Given the description of an element on the screen output the (x, y) to click on. 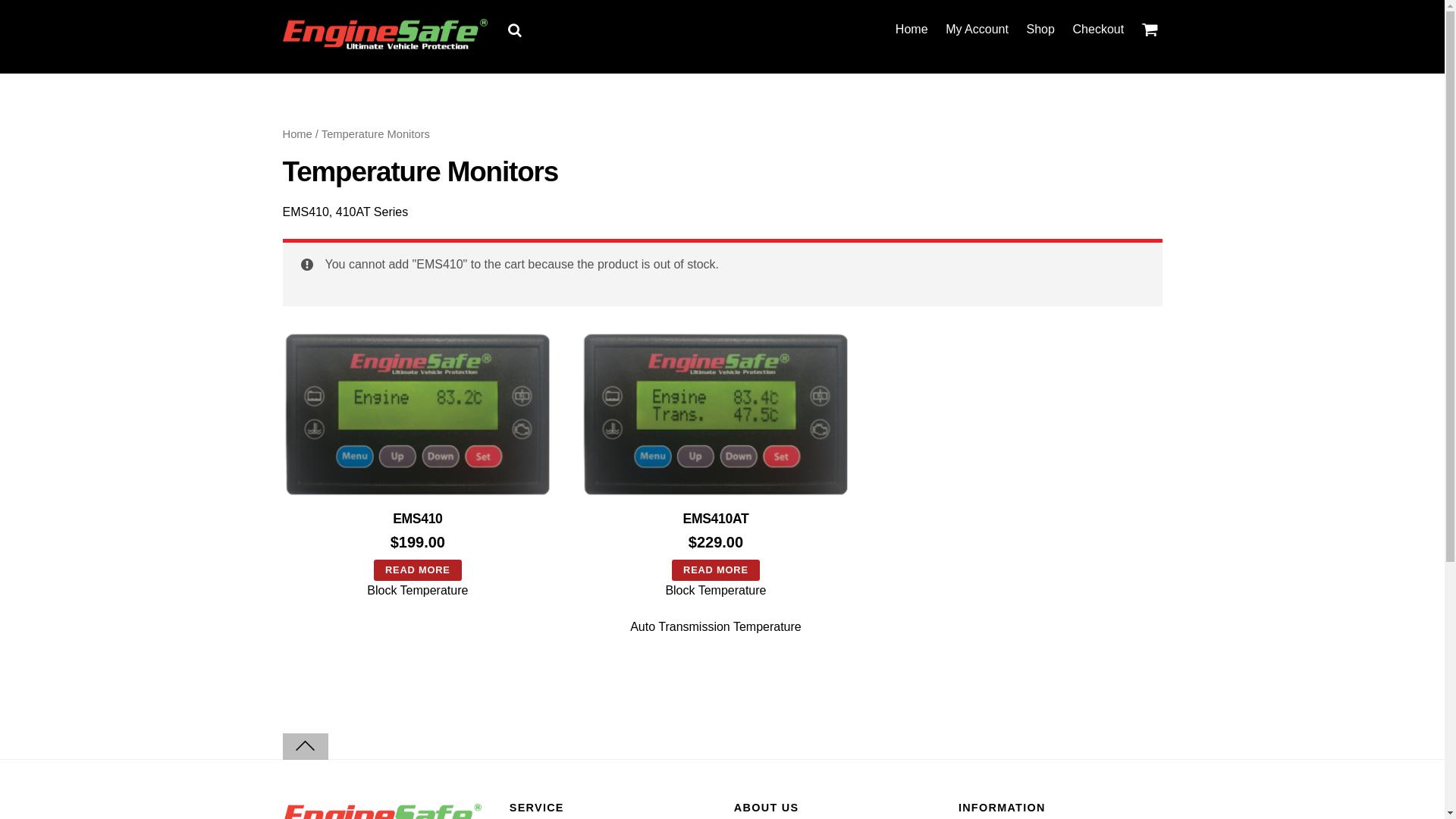
READ MORE Element type: text (417, 569)
EngineSafe Element type: hover (384, 43)
Shop Element type: text (1040, 29)
Checkout Element type: text (1098, 29)
Home Element type: text (911, 29)
READ MORE Element type: text (715, 569)
My Account Element type: text (977, 29)
EMS410
$199.00 Element type: text (417, 452)
EMS410AT
$229.00 Element type: text (715, 452)
EngineSafe Element type: hover (384, 32)
Home Element type: text (296, 134)
